Given the description of an element on the screen output the (x, y) to click on. 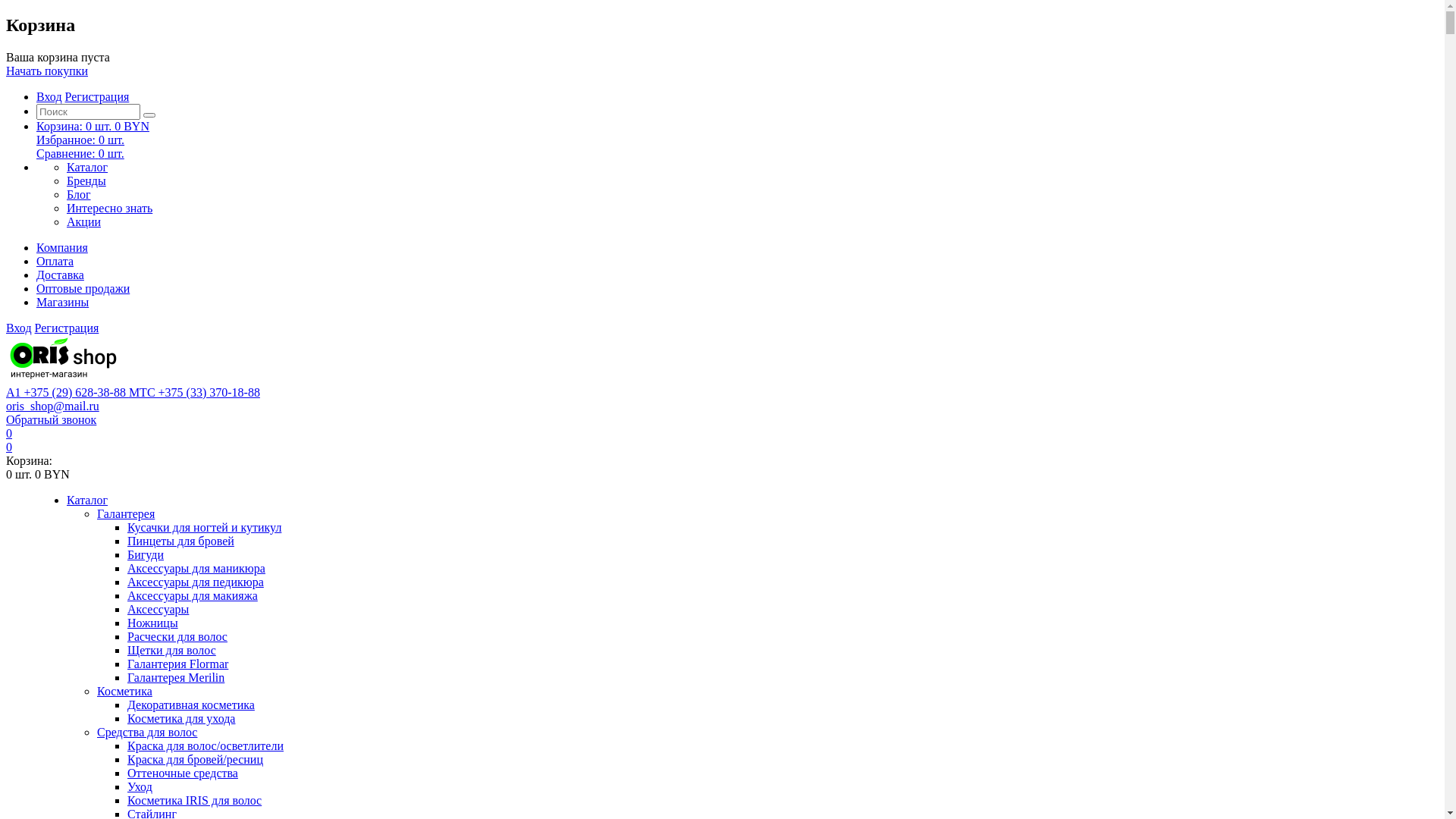
0 Element type: text (9, 446)
0 Element type: text (9, 432)
oris_shop@mail.ru Element type: text (52, 405)
